Given the description of an element on the screen output the (x, y) to click on. 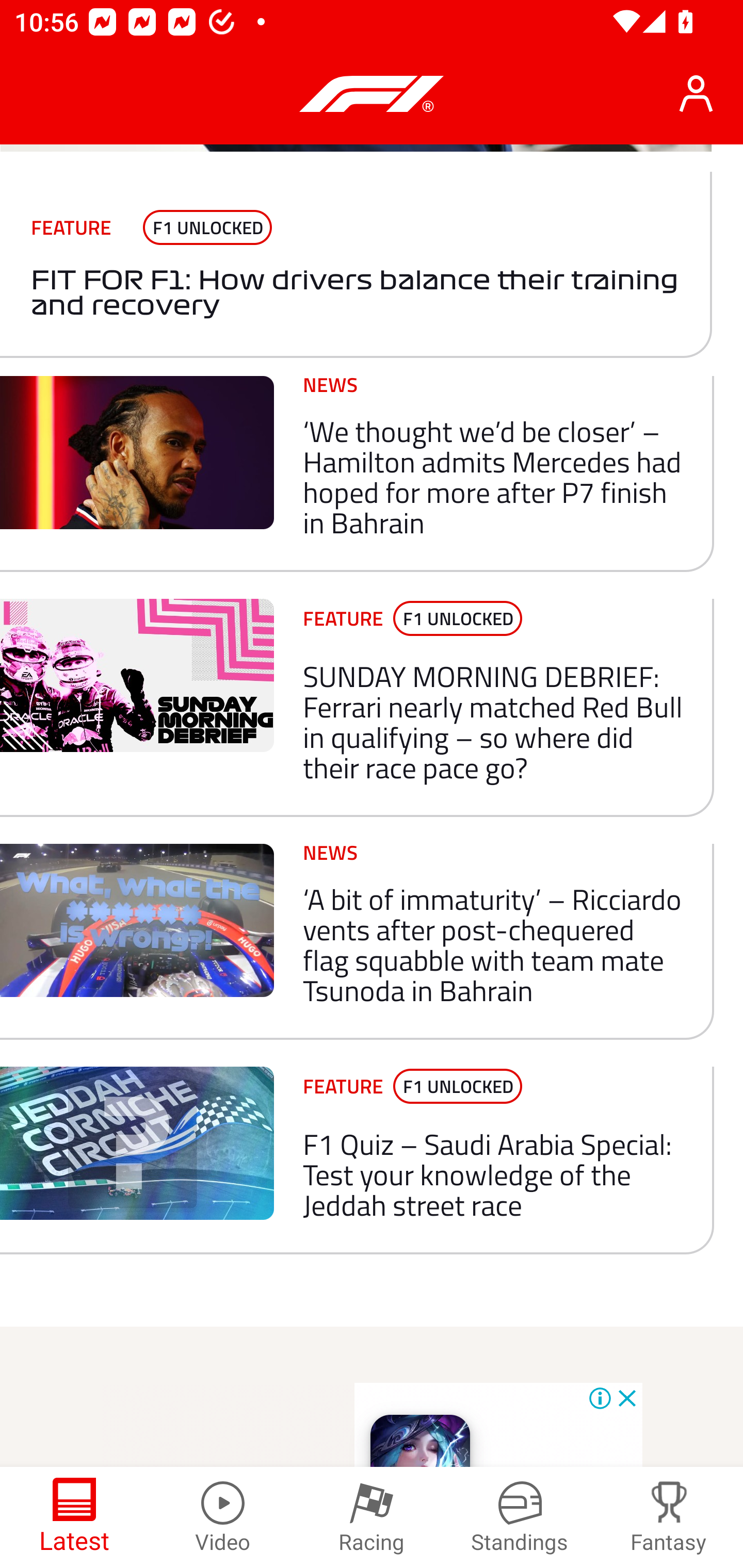
Video (222, 1517)
Racing (371, 1517)
Standings (519, 1517)
Fantasy (668, 1517)
